Given the description of an element on the screen output the (x, y) to click on. 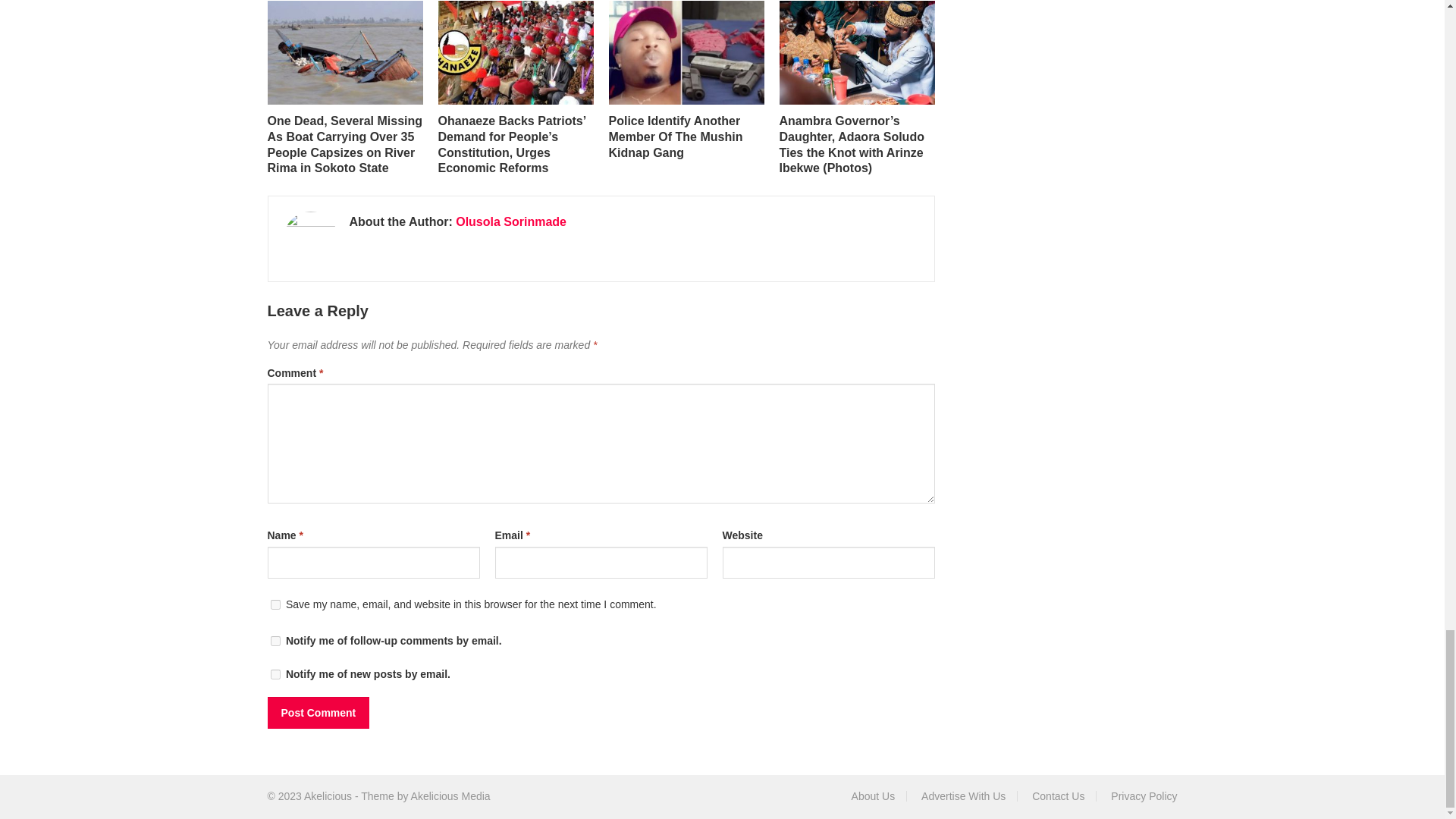
subscribe (274, 674)
Police Identify Another Member Of The Mushin Kidnap Gang 4 (685, 52)
yes (274, 604)
subscribe (274, 641)
Post Comment (317, 712)
